Given the description of an element on the screen output the (x, y) to click on. 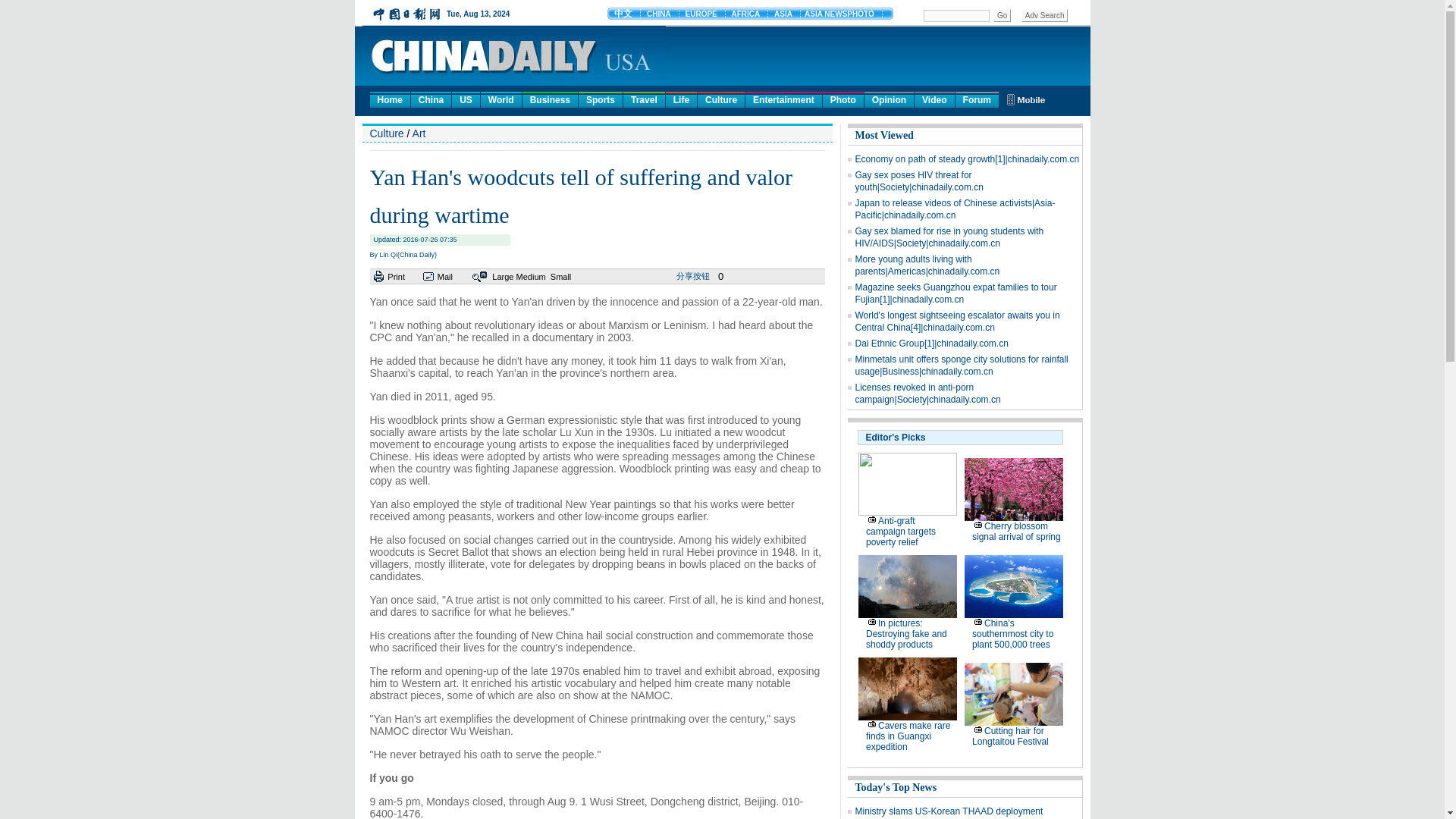
China (430, 99)
Sports (600, 99)
Business (550, 99)
Travel (644, 99)
World (500, 99)
US (465, 99)
Home (389, 99)
